Given the description of an element on the screen output the (x, y) to click on. 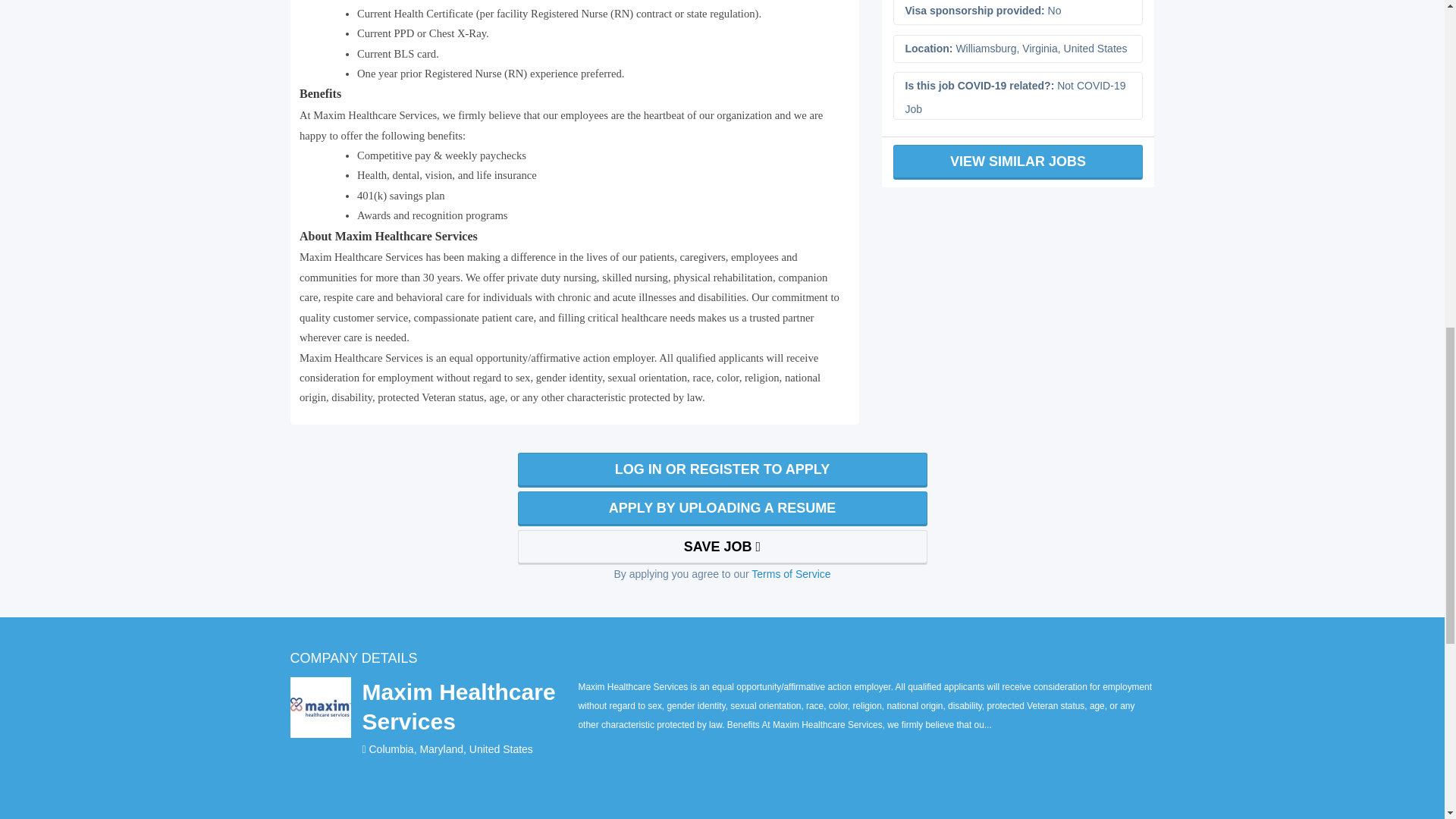
LOG IN OR REGISTER TO APPLY (721, 469)
SAVE JOB (721, 547)
Terms of Service (790, 573)
VIEW SIMILAR JOBS (1017, 161)
APPLY BY UPLOADING A RESUME (721, 508)
Maxim Healthcare Services (469, 706)
